Given the description of an element on the screen output the (x, y) to click on. 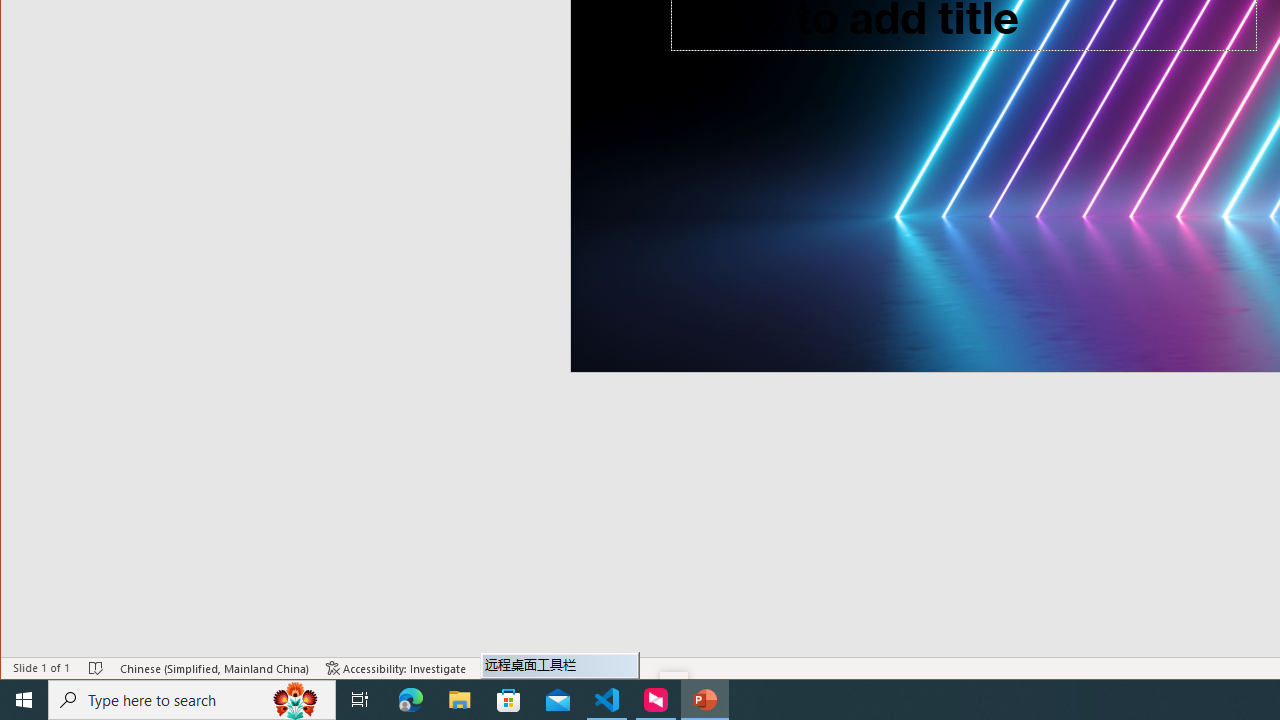
File Explorer (460, 699)
Microsoft Edge (411, 699)
Subtitle TextBox (907, 152)
PowerPoint - 1 running window (704, 699)
